Given the description of an element on the screen output the (x, y) to click on. 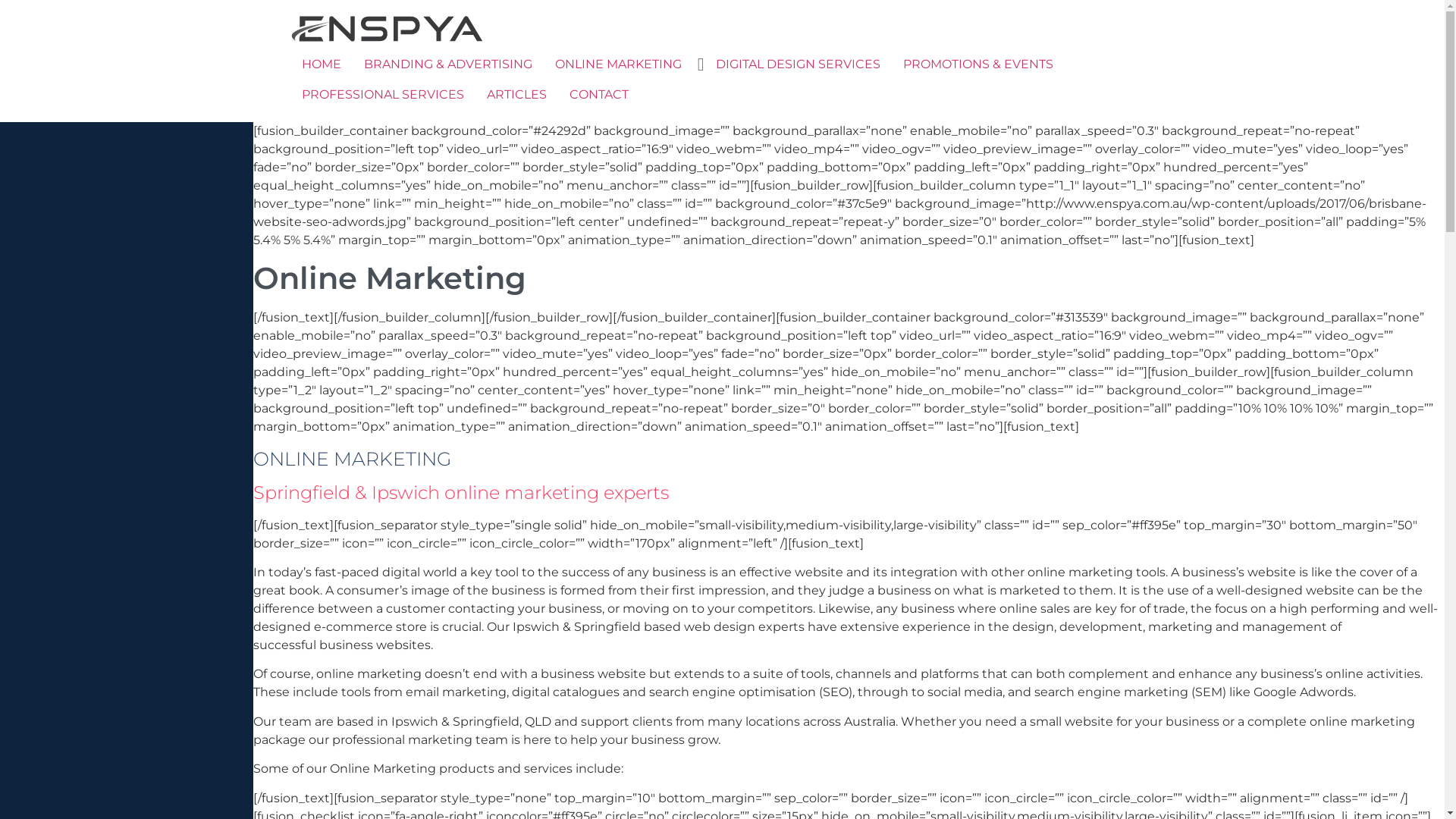
CONTACT Element type: text (599, 94)
BRANDING & ADVERTISING Element type: text (446, 64)
ARTICLES Element type: text (515, 94)
PROMOTIONS & EVENTS Element type: text (977, 64)
HOME Element type: text (320, 64)
DIGITAL DESIGN SERVICES Element type: text (797, 64)
ONLINE MARKETING Element type: text (617, 64)
PROFESSIONAL SERVICES Element type: text (381, 94)
